Given the description of an element on the screen output the (x, y) to click on. 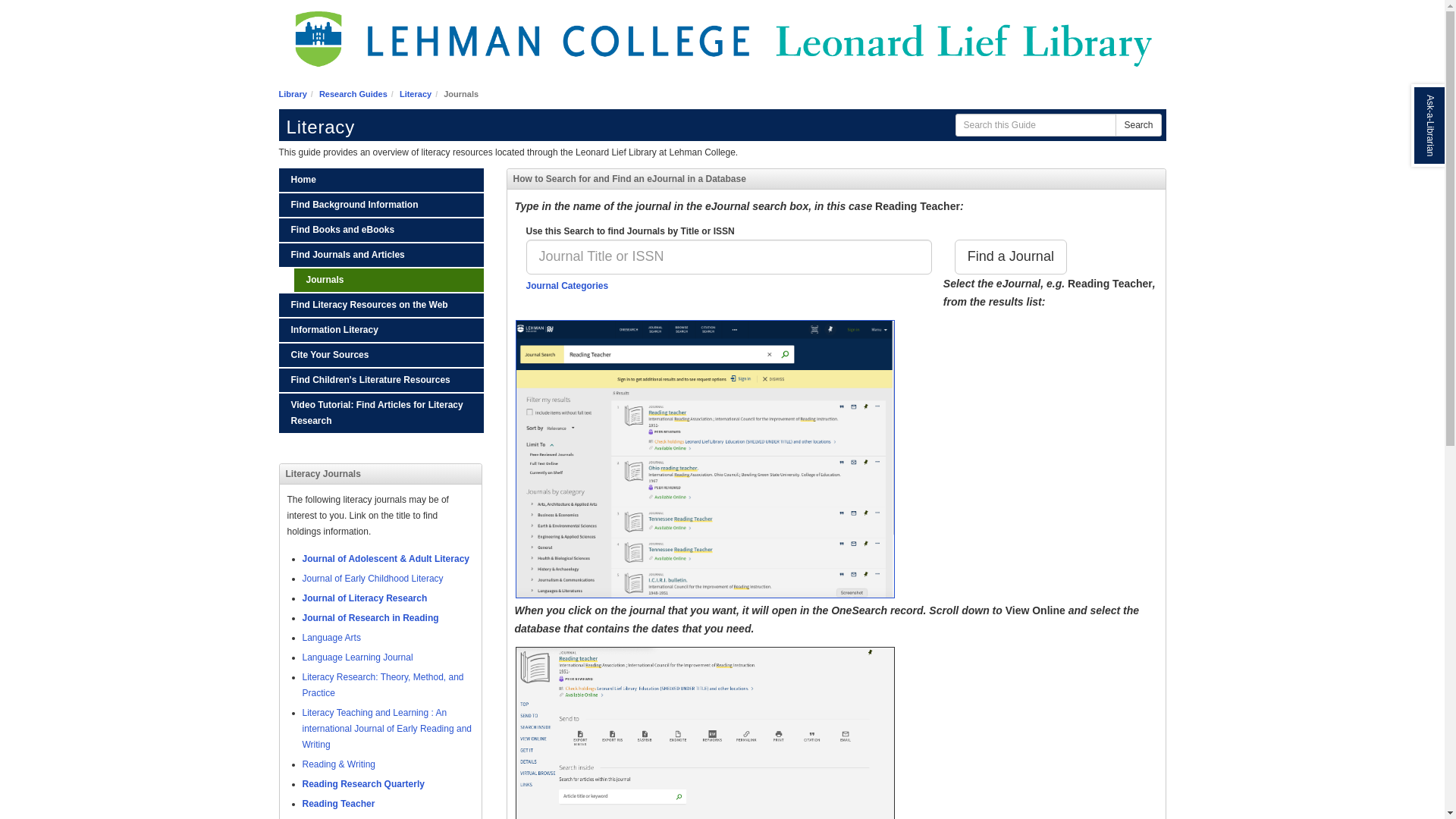
Language Learning Journal (356, 656)
Search (1011, 256)
Find Children's Literature Resources (381, 380)
Literacy (414, 93)
Find Literacy Resources on the Web (381, 304)
Journals (388, 279)
Find Books and eBooks (381, 229)
Journal of Research in Reading (369, 617)
Literacy Research: Theory, Method, and Practice (382, 684)
Library (293, 93)
Research Guides (352, 93)
Find Journals and Articles (381, 254)
Video Tutorial: Find Articles for Literacy Research (381, 413)
Find a Journal (1011, 256)
